Given the description of an element on the screen output the (x, y) to click on. 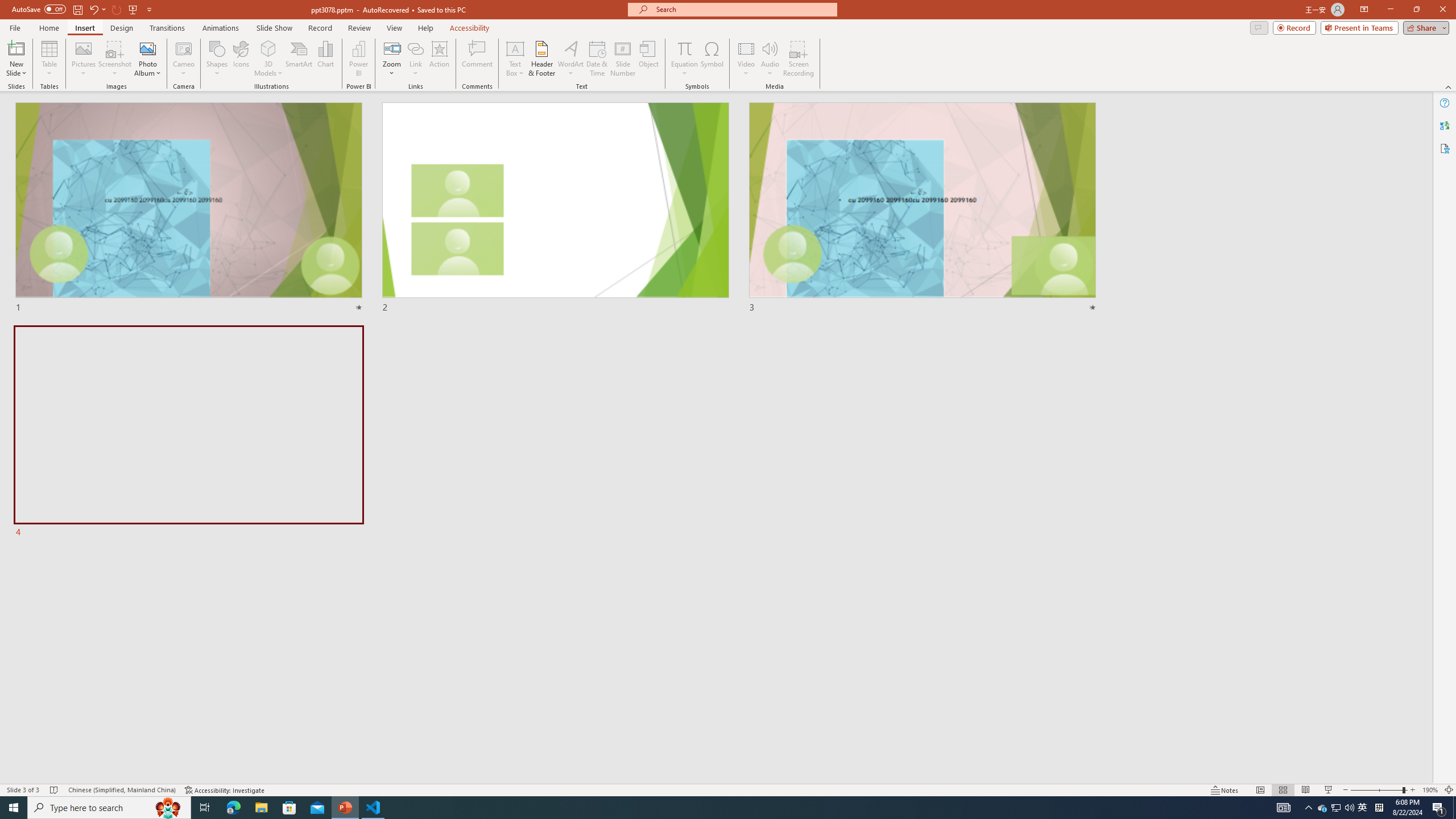
Share (1423, 27)
Object... (649, 58)
Slide Sorter (1282, 790)
From Beginning (133, 9)
Cameo (183, 58)
Shapes (216, 58)
Equation (683, 48)
Ribbon Display Options (1364, 9)
Class: MsoCommandBar (728, 789)
Minimize (1390, 9)
Link (415, 48)
Present in Teams (1359, 27)
